Given the description of an element on the screen output the (x, y) to click on. 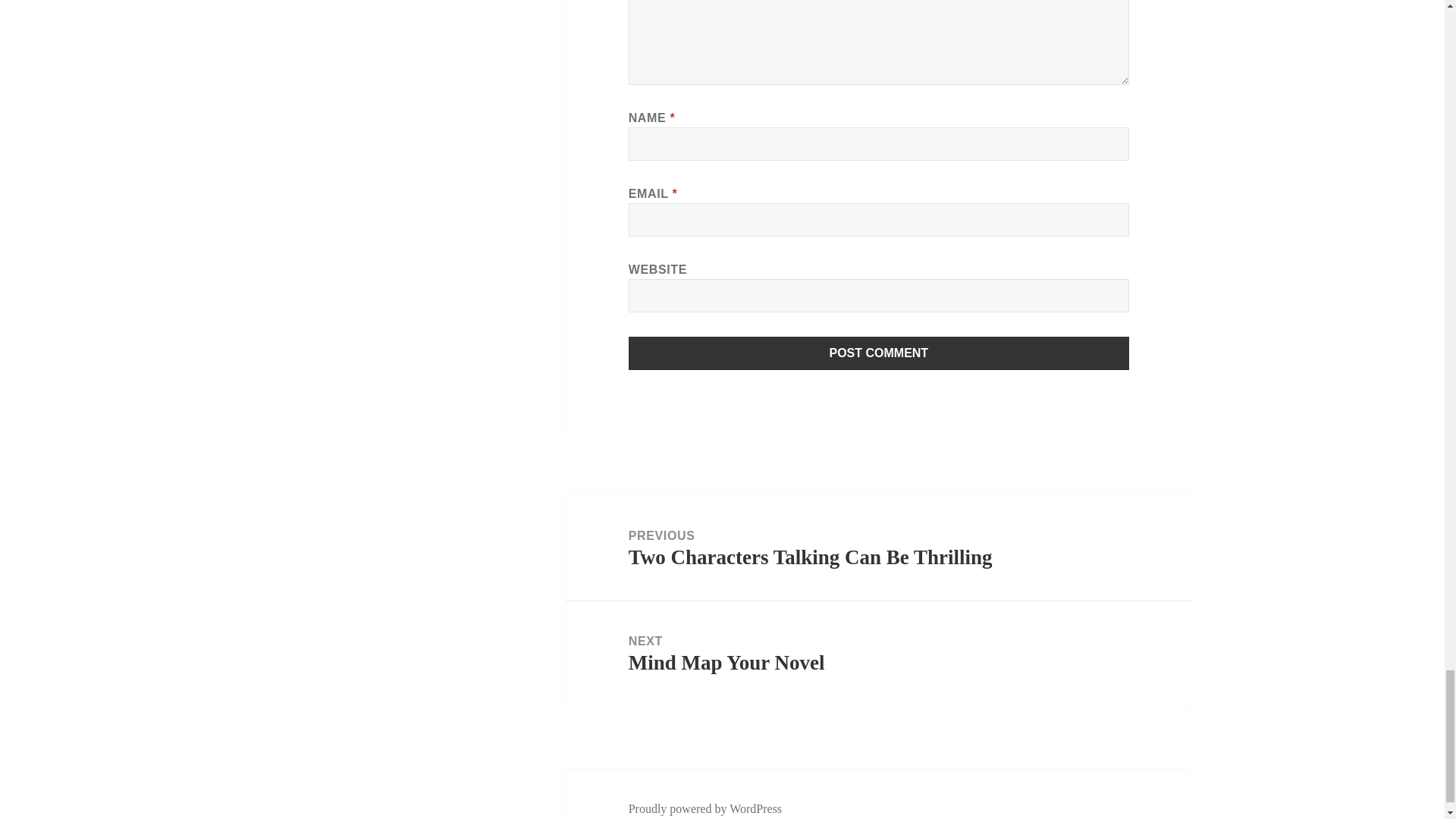
Post Comment (878, 353)
